Given the description of an element on the screen output the (x, y) to click on. 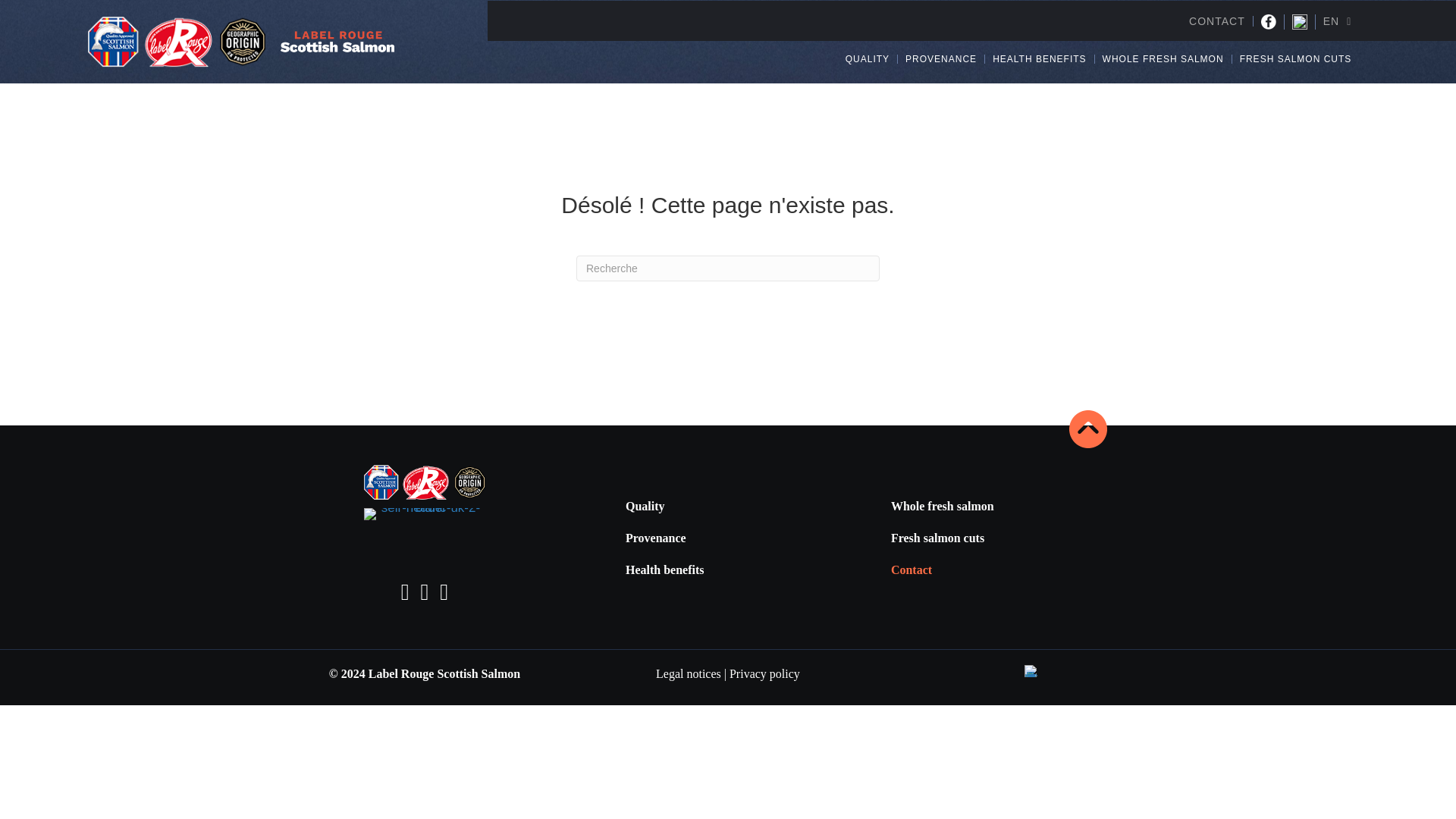
QUALITY (867, 58)
FRESH SALMON CUTS (1295, 58)
selr-header-uk-2-blanc (424, 513)
logo-selr-2022 (424, 482)
PROVENANCE (941, 58)
selr-header-uk-2 (337, 41)
CONTACT (1216, 20)
arrow top (1087, 428)
EN (1337, 21)
logo-selr-2022 (175, 41)
